Given the description of an element on the screen output the (x, y) to click on. 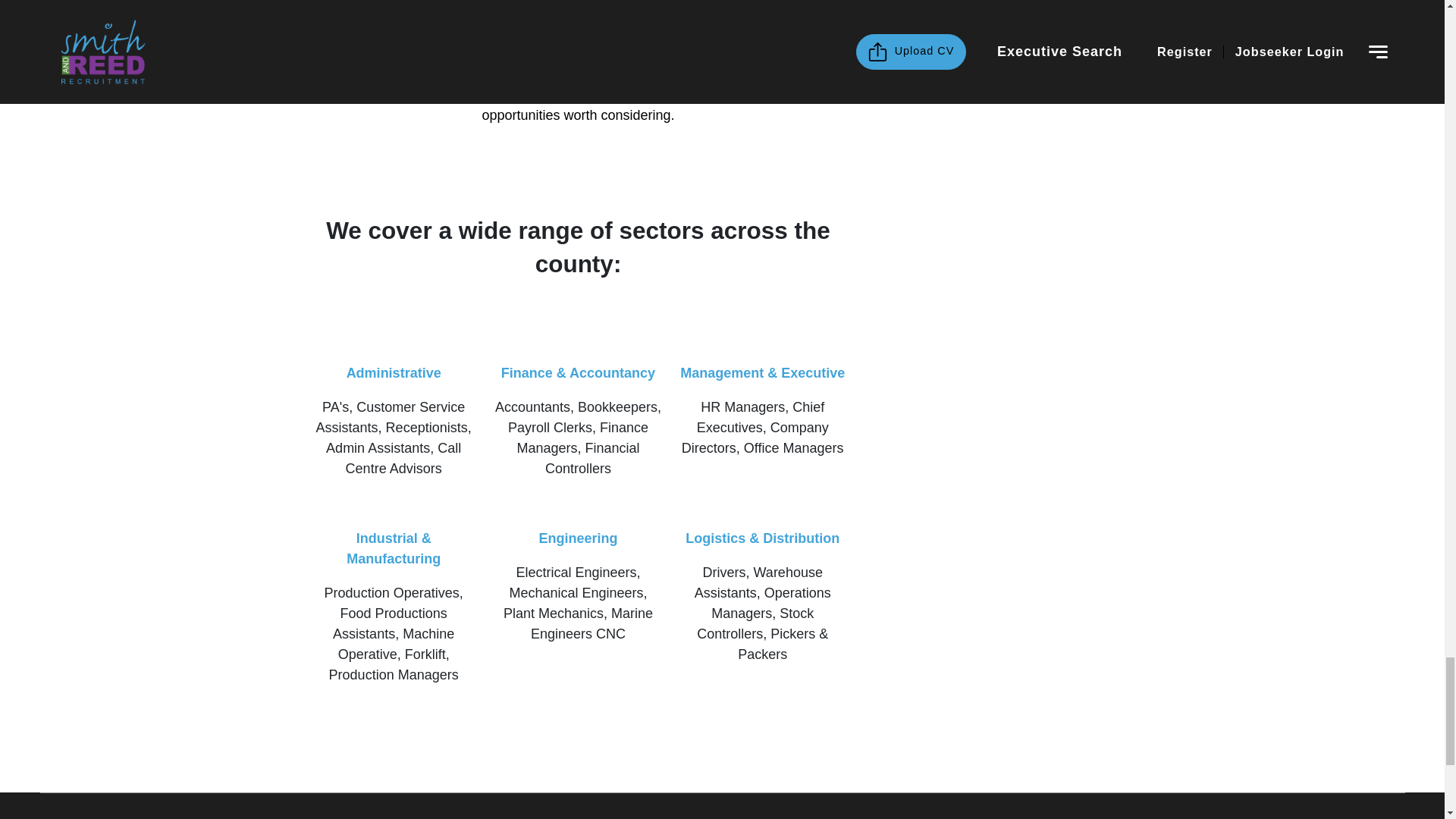
Administrative (393, 372)
Engineering (577, 538)
